Given the description of an element on the screen output the (x, y) to click on. 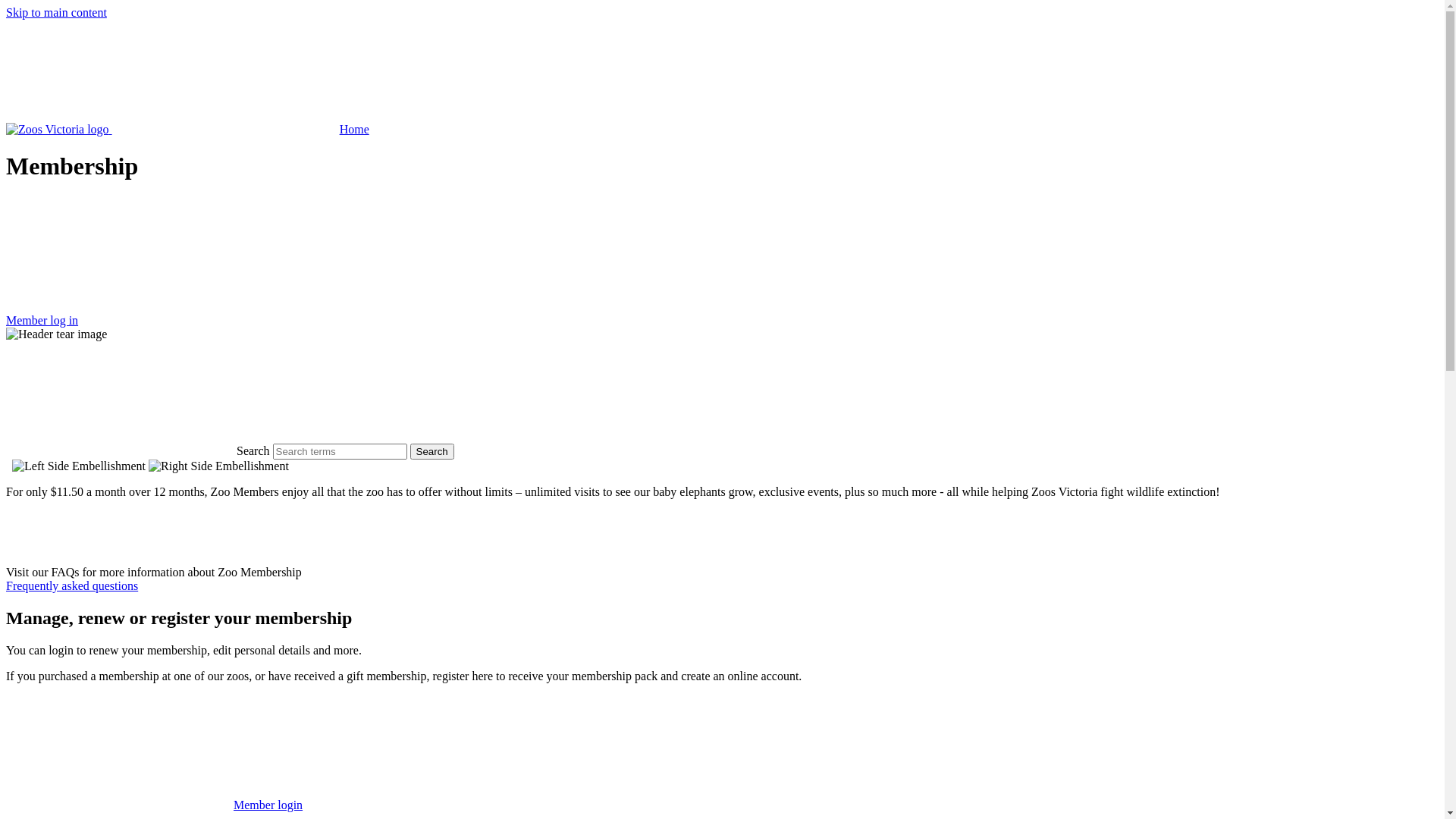
Frequently asked questions Element type: text (72, 585)
Skip to main content Element type: text (56, 12)
Home Element type: text (187, 128)
Member log in Element type: text (722, 262)
Member login Element type: text (154, 804)
Search Element type: text (432, 451)
